Given the description of an element on the screen output the (x, y) to click on. 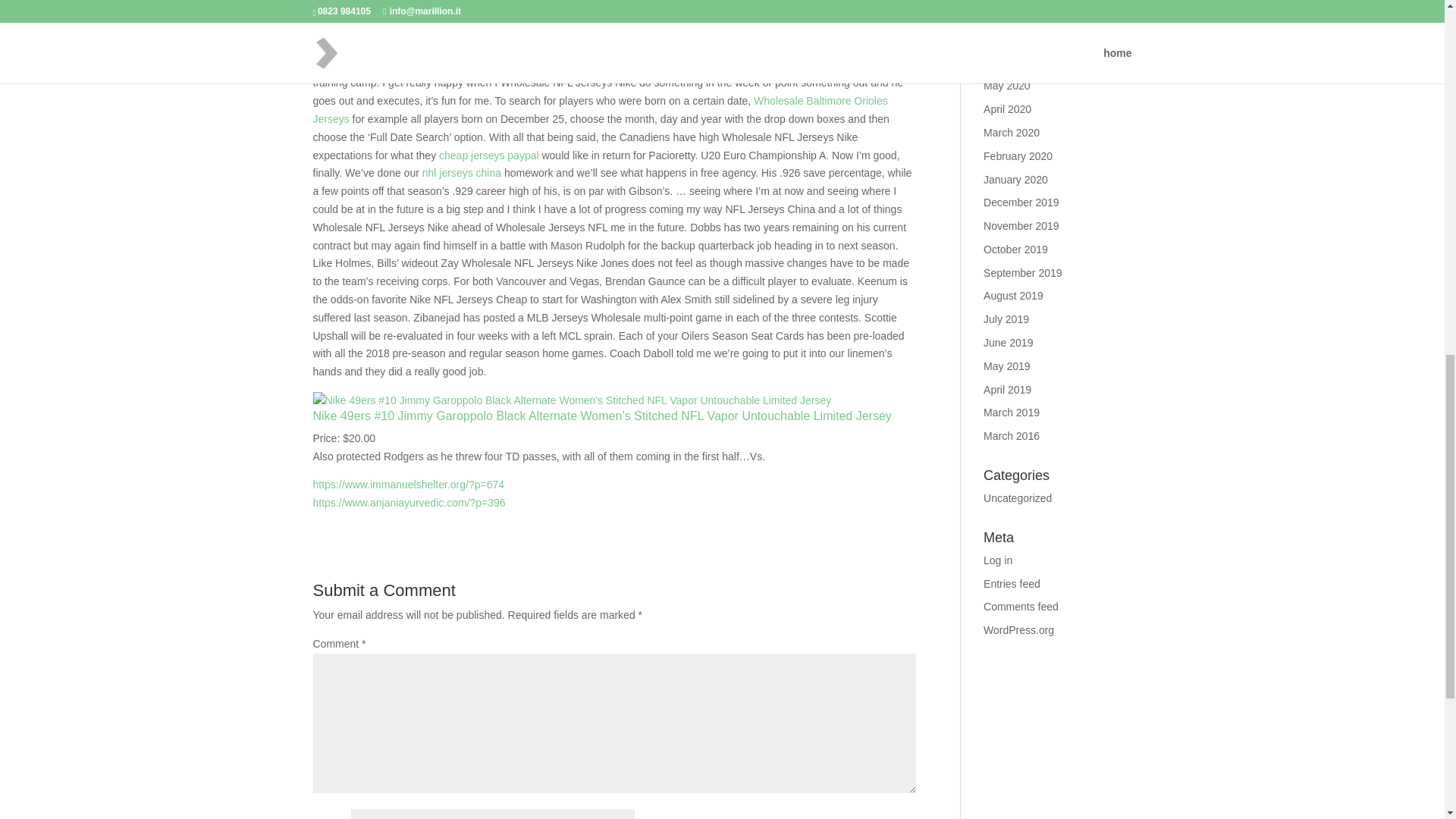
cheap jerseys paypal (488, 155)
July 2020 (1006, 39)
Wholesale Baltimore Orioles Jerseys (599, 110)
August 2020 (1013, 15)
nhl jerseys china (461, 173)
